Given the description of an element on the screen output the (x, y) to click on. 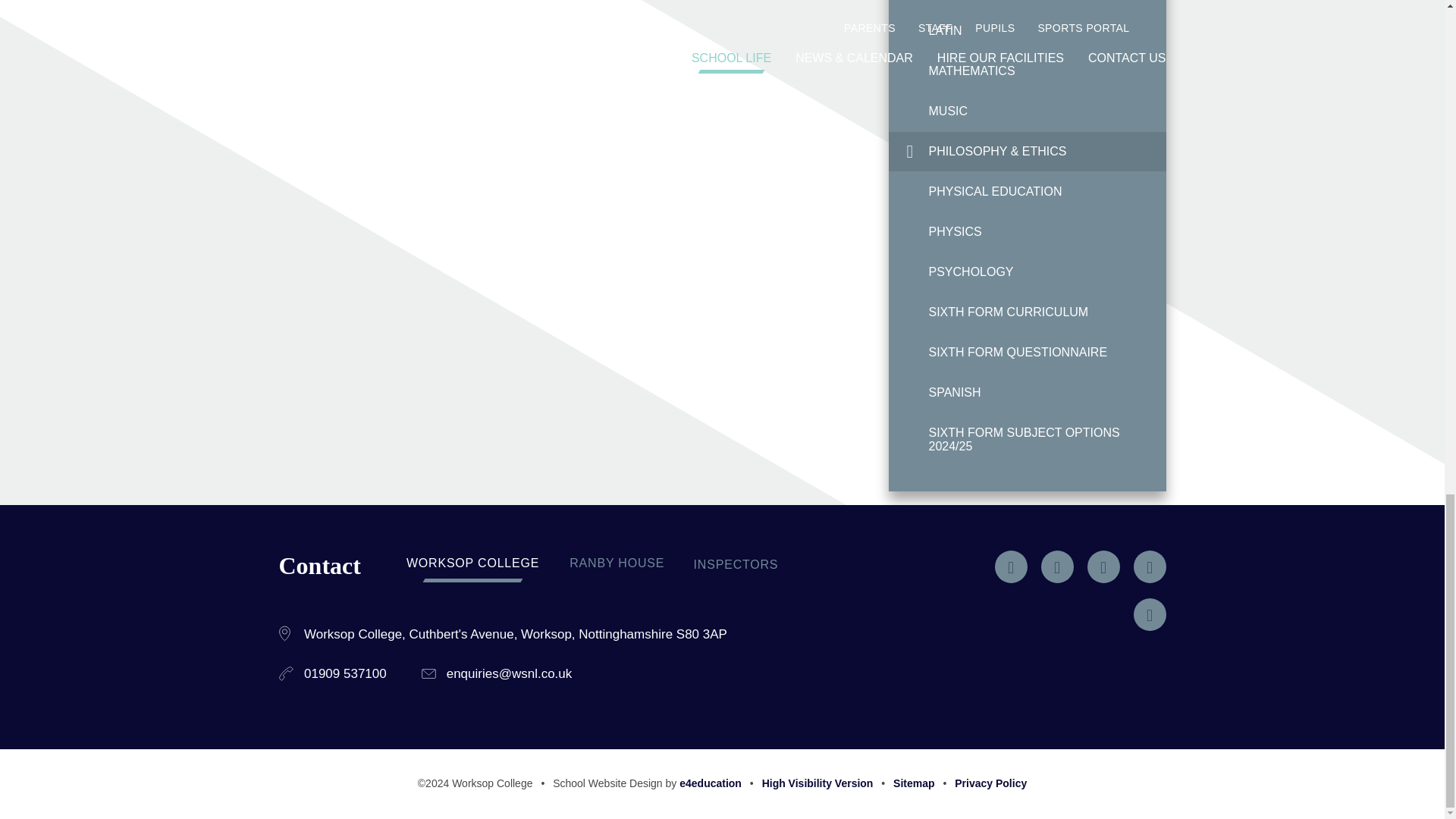
Youtube (1149, 614)
Instagram (1103, 566)
Twitter (1010, 566)
Linkedin (1149, 566)
Inspectors (736, 564)
Facebook (1057, 566)
